Given the description of an element on the screen output the (x, y) to click on. 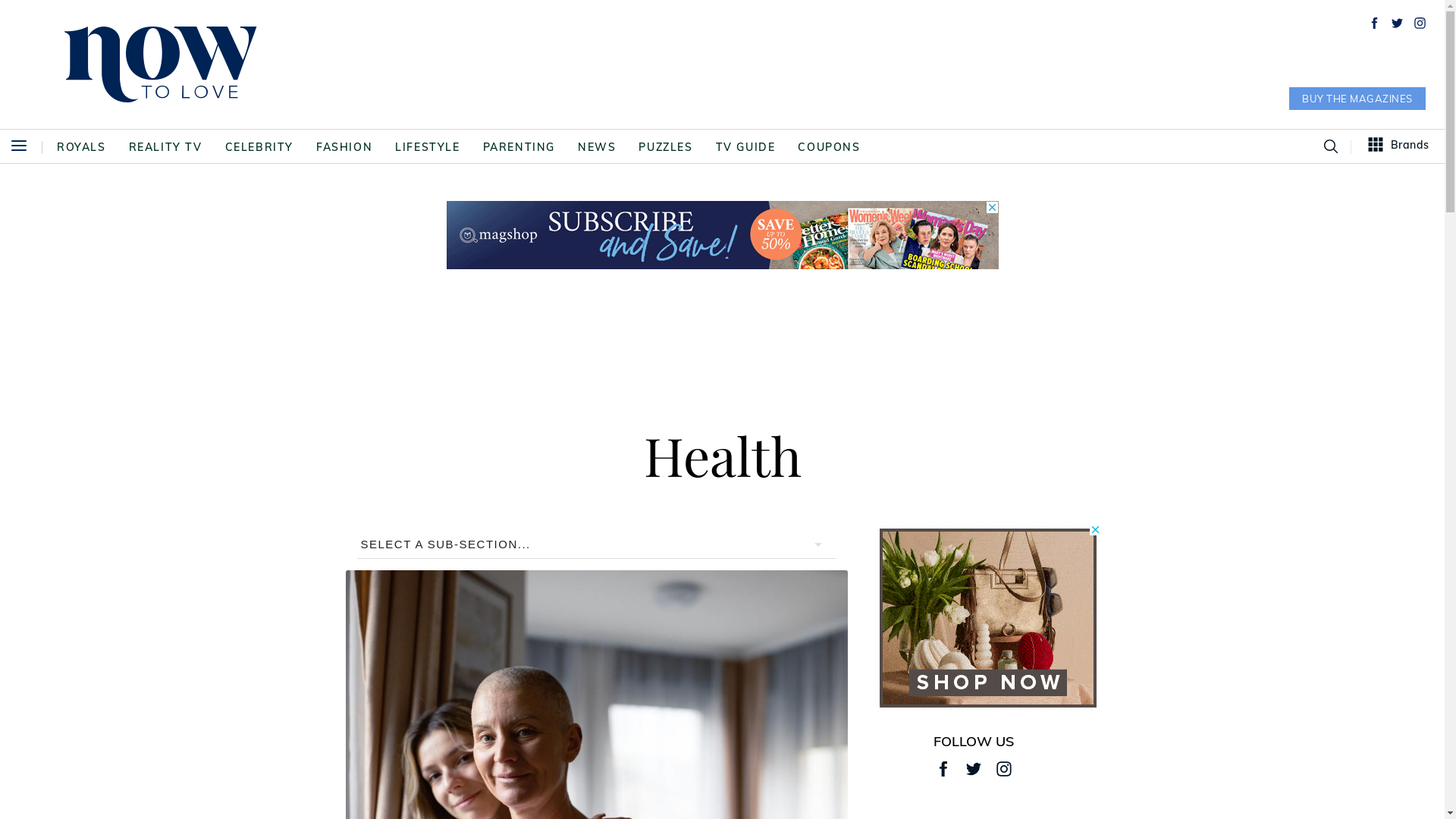
COUPONS Element type: text (828, 146)
REALITY TV Element type: text (165, 146)
LIFESTYLE Element type: text (426, 146)
CELEBRITY Element type: text (258, 146)
PARENTING Element type: text (518, 146)
3rd party ad content Element type: hover (987, 617)
ROYALS Element type: text (81, 146)
NEWS Element type: text (596, 146)
Brands Element type: text (1399, 146)
PUZZLES Element type: text (665, 146)
FASHION Element type: text (343, 146)
BUY THE MAGAZINES Element type: text (1357, 98)
3rd party ad content Element type: hover (721, 234)
TV GUIDE Element type: text (745, 146)
